Given the description of an element on the screen output the (x, y) to click on. 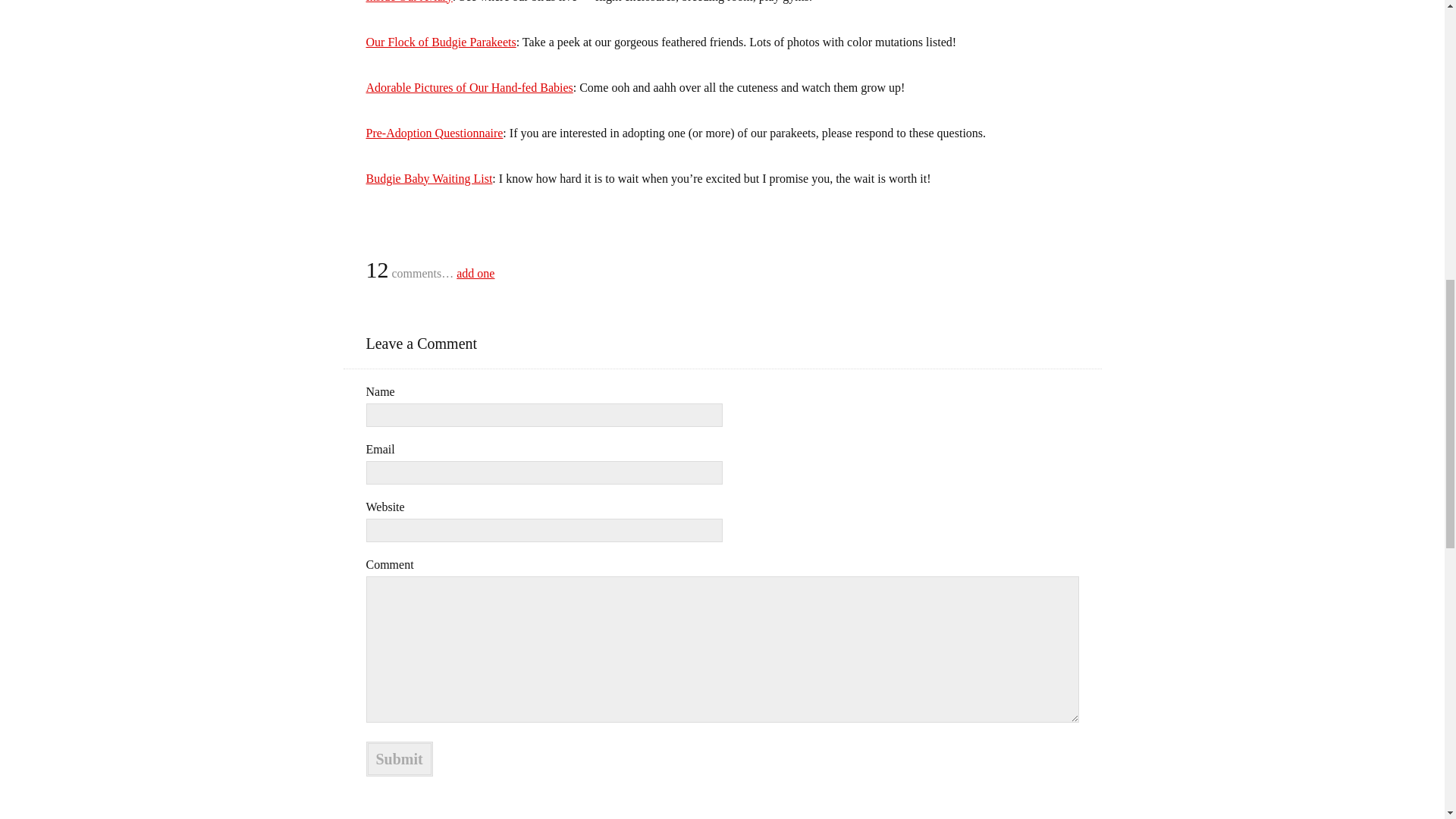
Pre-Adoption Questionnaire (433, 132)
add one (476, 273)
Adorable Pictures of Our Hand-fed Babies (468, 87)
Inside Our Aviary (408, 1)
Our Flock of Budgie Parakeets (440, 42)
Submit (398, 759)
Budgie Baby Waiting List (428, 178)
